Given the description of an element on the screen output the (x, y) to click on. 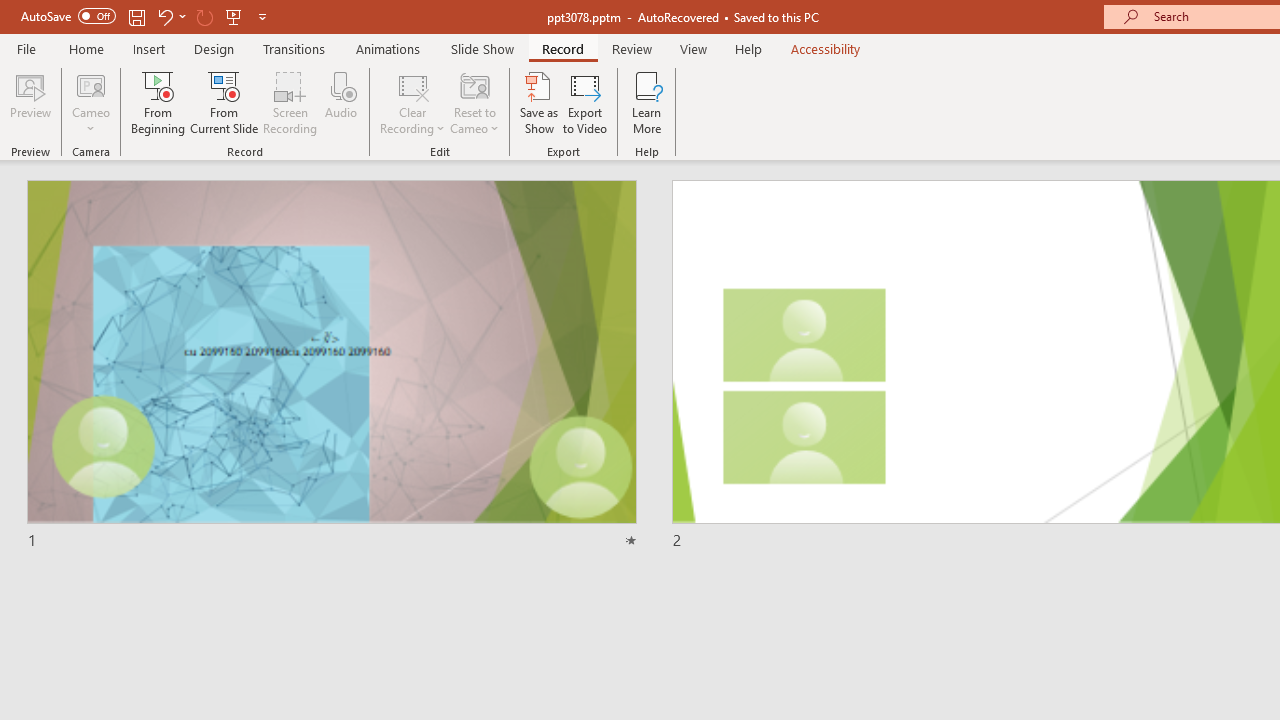
Reset to Cameo (474, 102)
From Current Slide... (224, 102)
From Beginning... (158, 102)
